Given the description of an element on the screen output the (x, y) to click on. 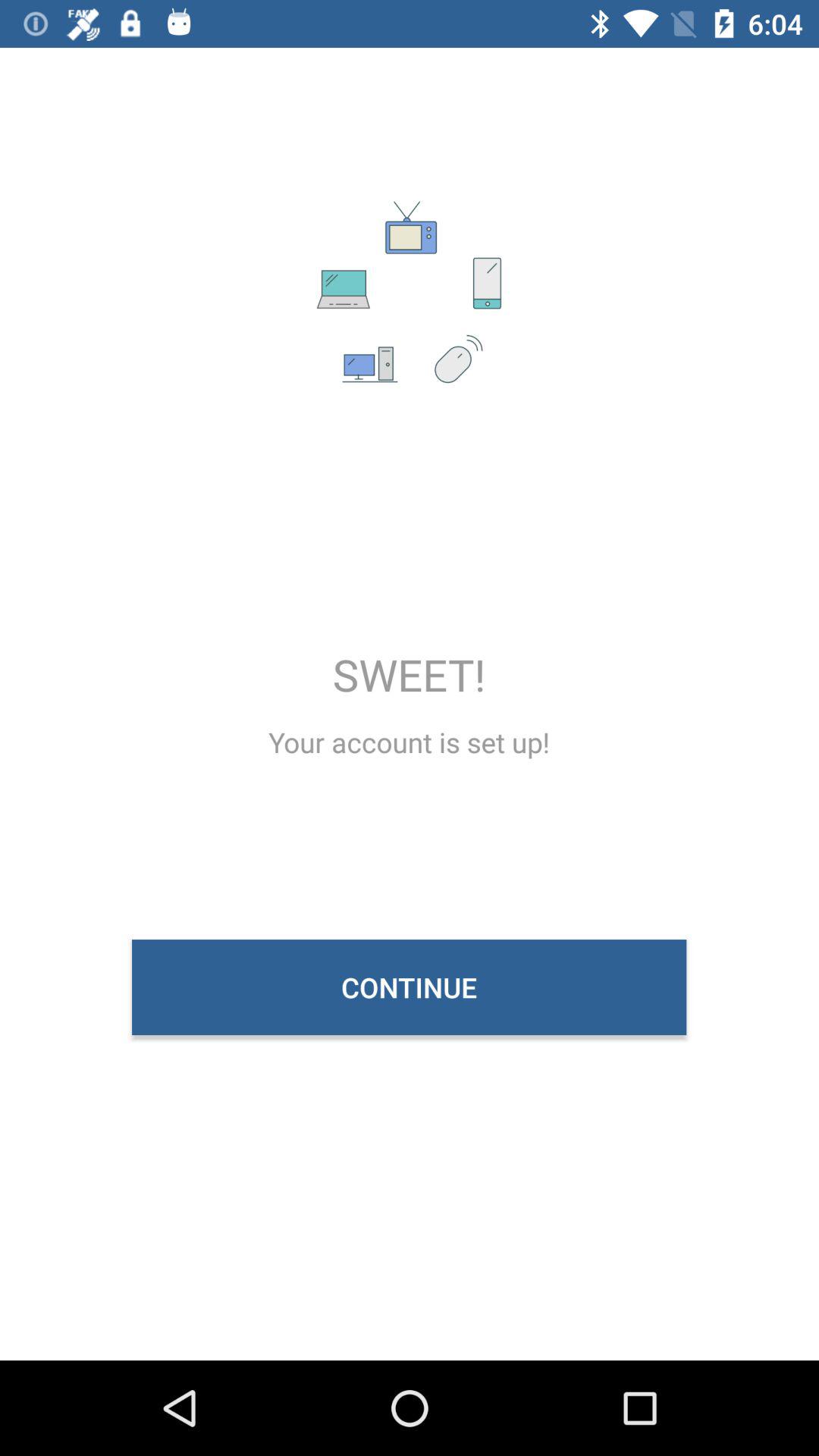
press item below the your account is item (408, 987)
